Given the description of an element on the screen output the (x, y) to click on. 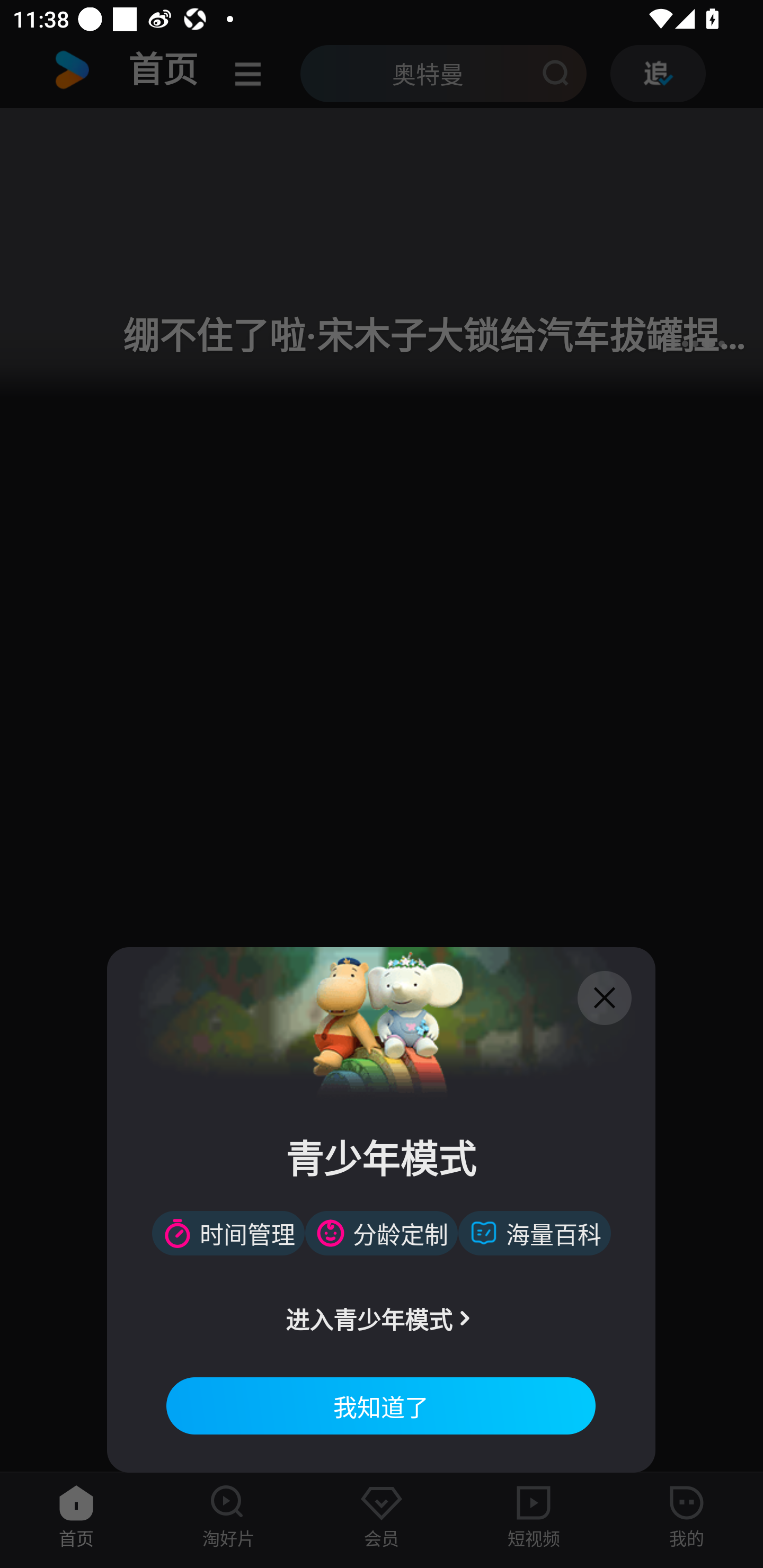
 关闭 (604, 997)
进入青少年模式  (380, 1318)
我知道了 (380, 1405)
